Given the description of an element on the screen output the (x, y) to click on. 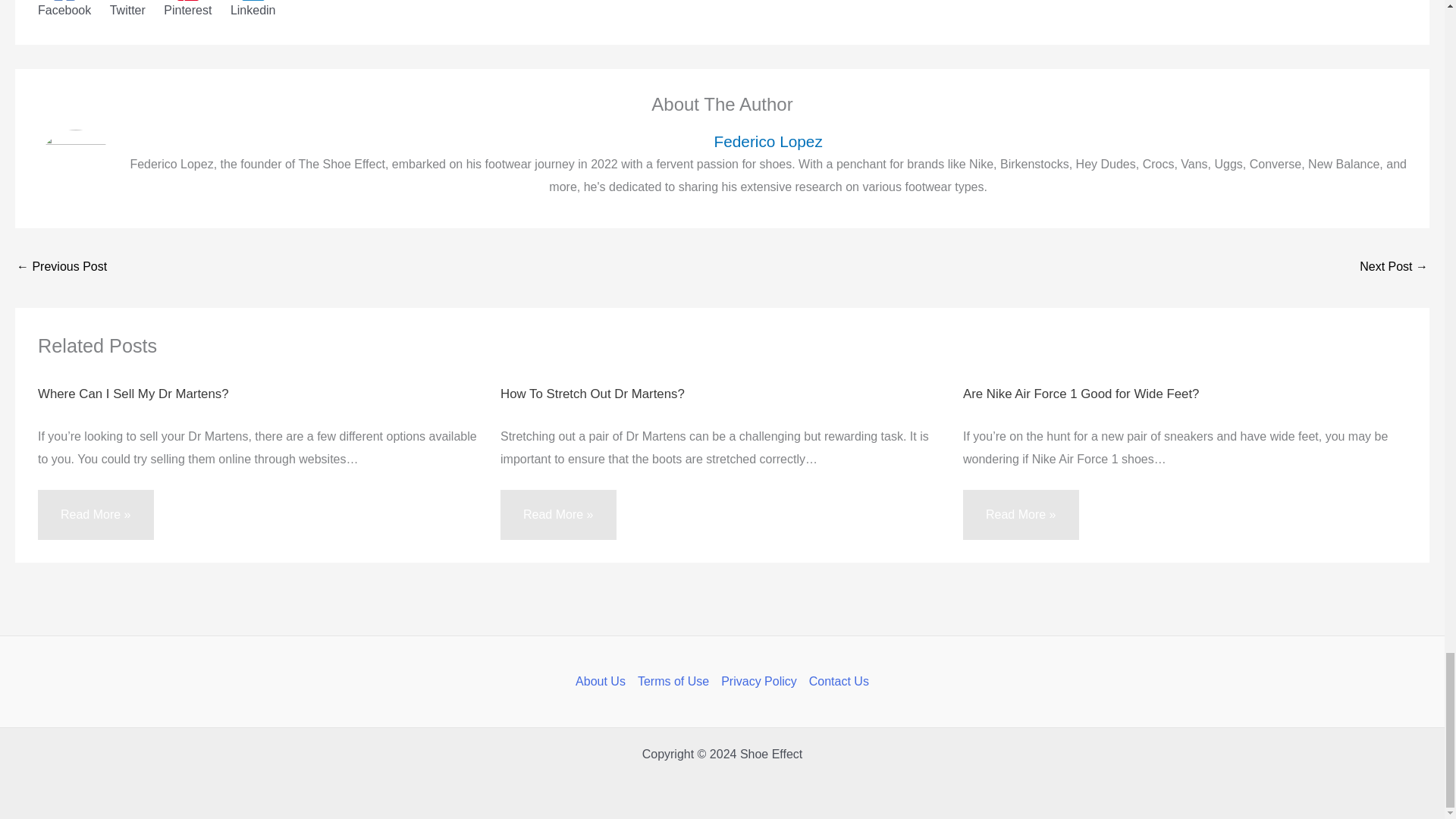
Terms of Use (672, 681)
Facebook (63, 8)
Privacy Policy (758, 681)
Linkedin (253, 8)
Sparkling Steps: Diamond-Embellished Burberry Flip Flops (61, 267)
How Long Are Under Armour Shoe Laces? (1393, 267)
How To Stretch Out Dr Martens? (592, 393)
Are Nike Air Force 1 Good for Wide Feet? (1080, 393)
Twitter (127, 8)
Pinterest (187, 8)
